Given the description of an element on the screen output the (x, y) to click on. 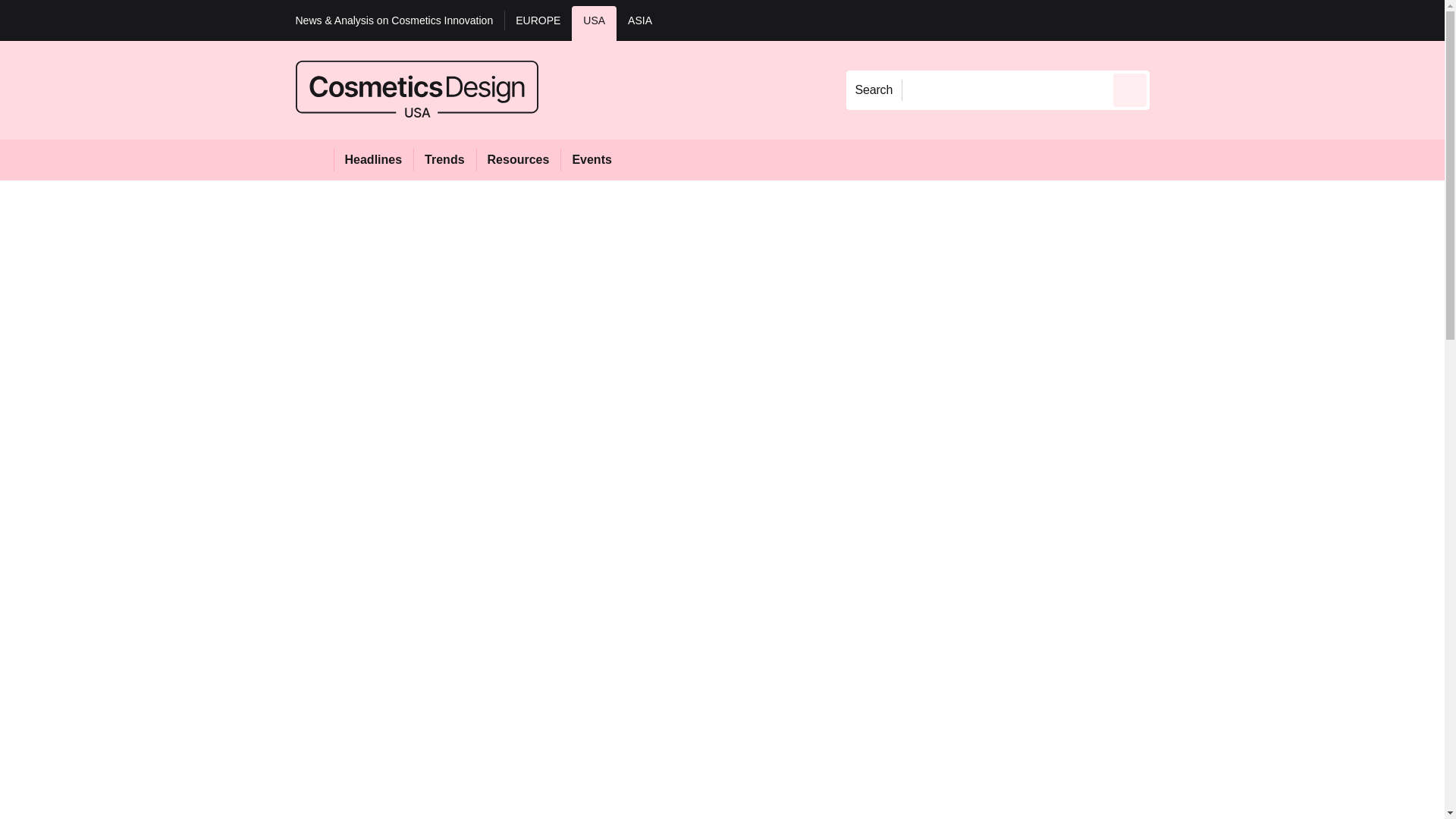
Home (314, 159)
Headlines (373, 159)
Send (1129, 89)
Send (1129, 90)
Trends (444, 159)
Home (313, 159)
My account (1256, 20)
Sign out (1174, 20)
CosmeticsDesign USA (416, 89)
USA (593, 22)
EUROPE (537, 22)
Sign in (1171, 20)
ASIA (639, 22)
REGISTER (1250, 20)
